Given the description of an element on the screen output the (x, y) to click on. 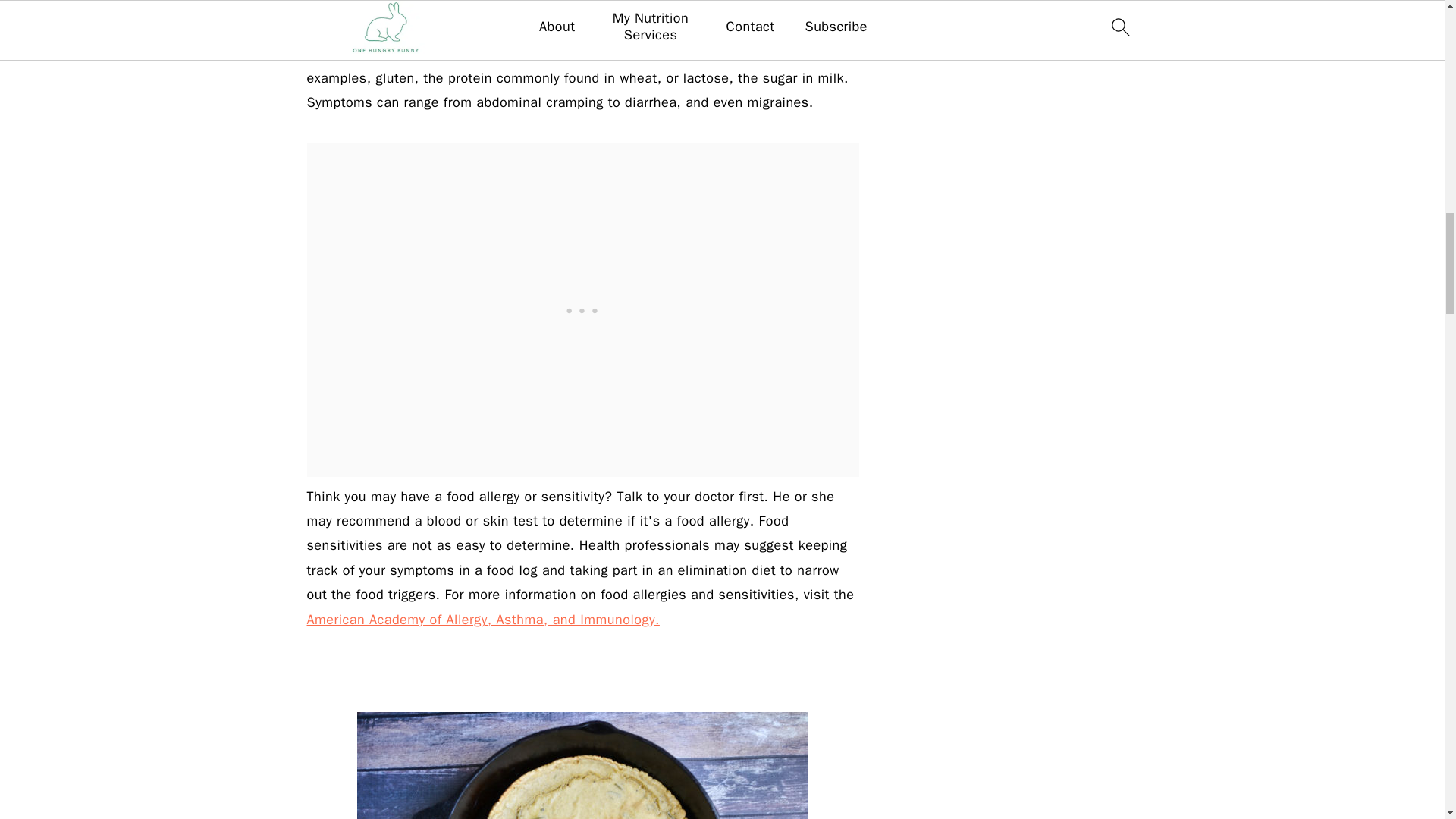
dukkah (582, 765)
American Academy of Allergy, Asthma, and Immunology. (482, 619)
